Given the description of an element on the screen output the (x, y) to click on. 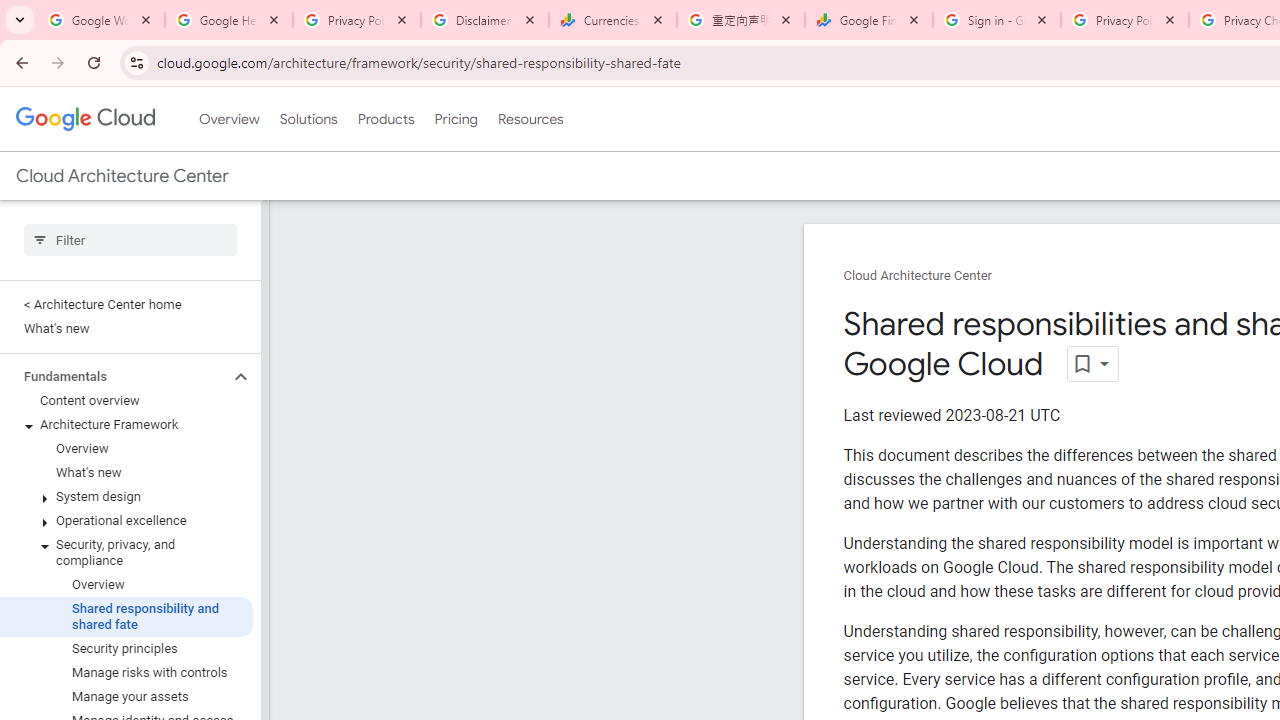
Manage your assets (126, 696)
Sign in - Google Accounts (997, 20)
Google Workspace Admin Community (101, 20)
